Given the description of an element on the screen output the (x, y) to click on. 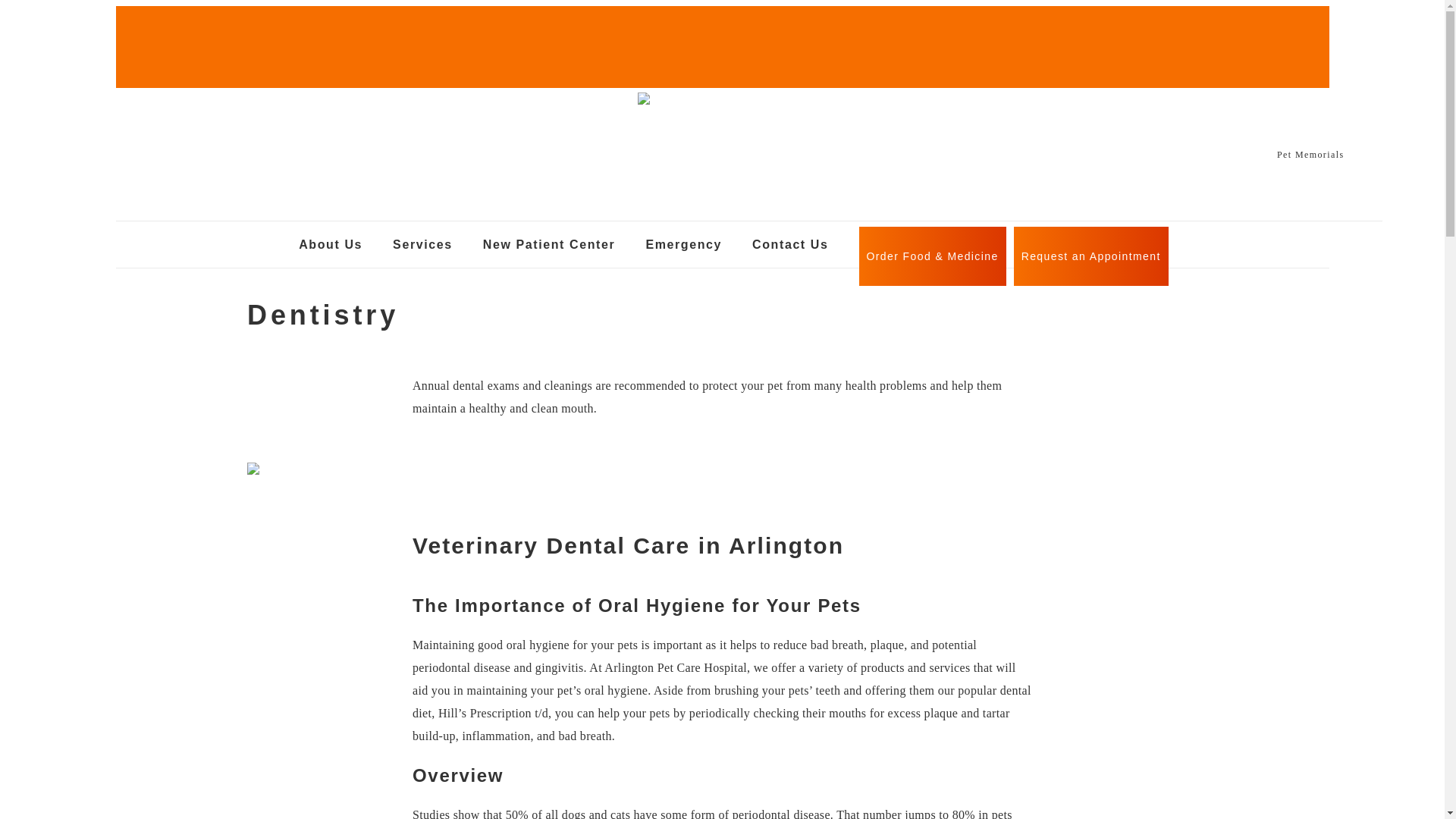
Emergency (683, 247)
Services (422, 247)
New Patient Center (549, 247)
Request an Appointment (1091, 255)
Pet Memorials (1309, 153)
Contact Us (790, 247)
Pet Memorials (1309, 153)
About Us (330, 247)
Services (422, 247)
About Us (330, 247)
Logo (712, 105)
